Given the description of an element on the screen output the (x, y) to click on. 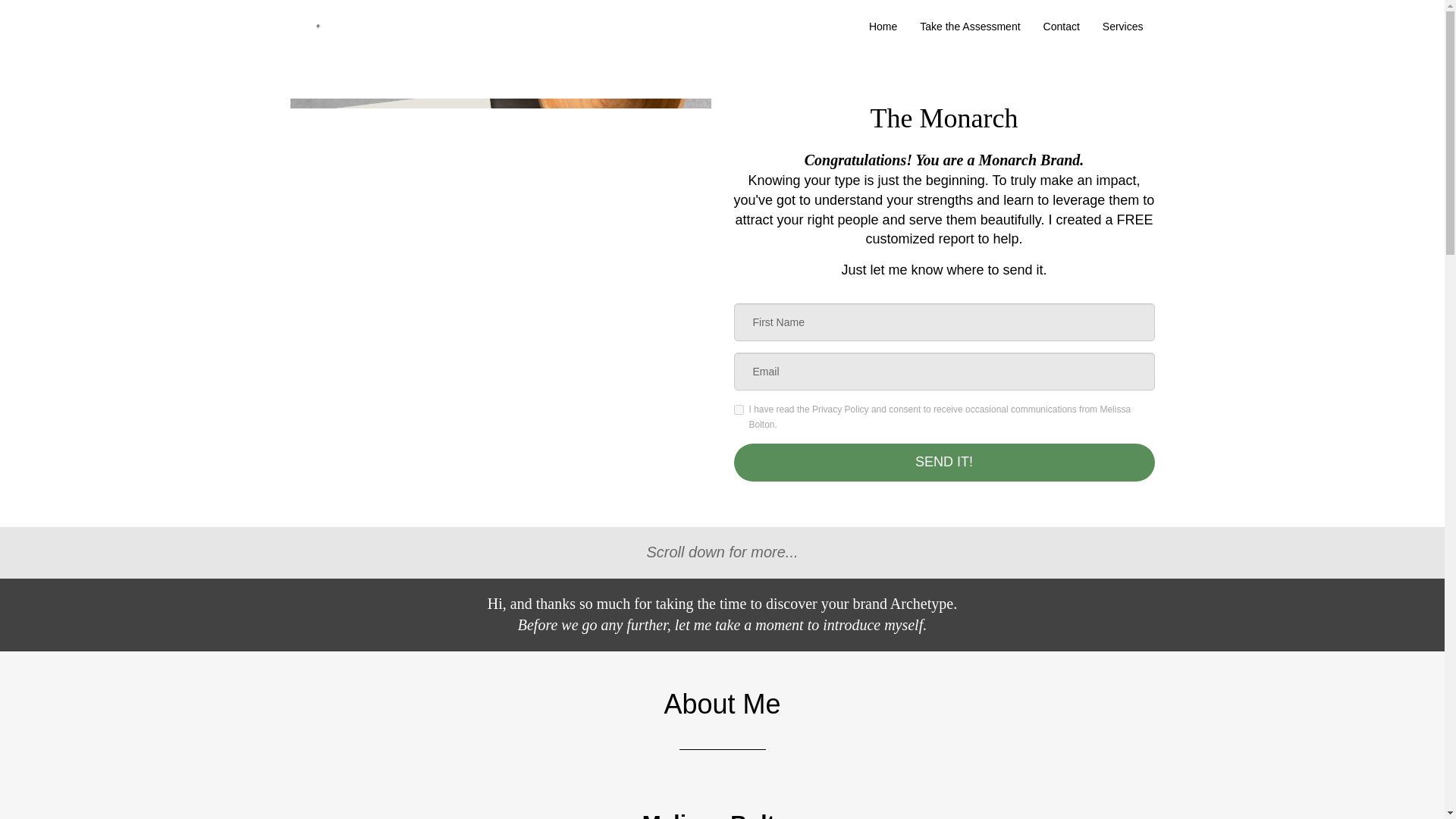
on (738, 409)
SEND IT! (943, 462)
Services (1122, 26)
Home (882, 26)
Contact (1061, 26)
Take the Assessment (969, 26)
